Given the description of an element on the screen output the (x, y) to click on. 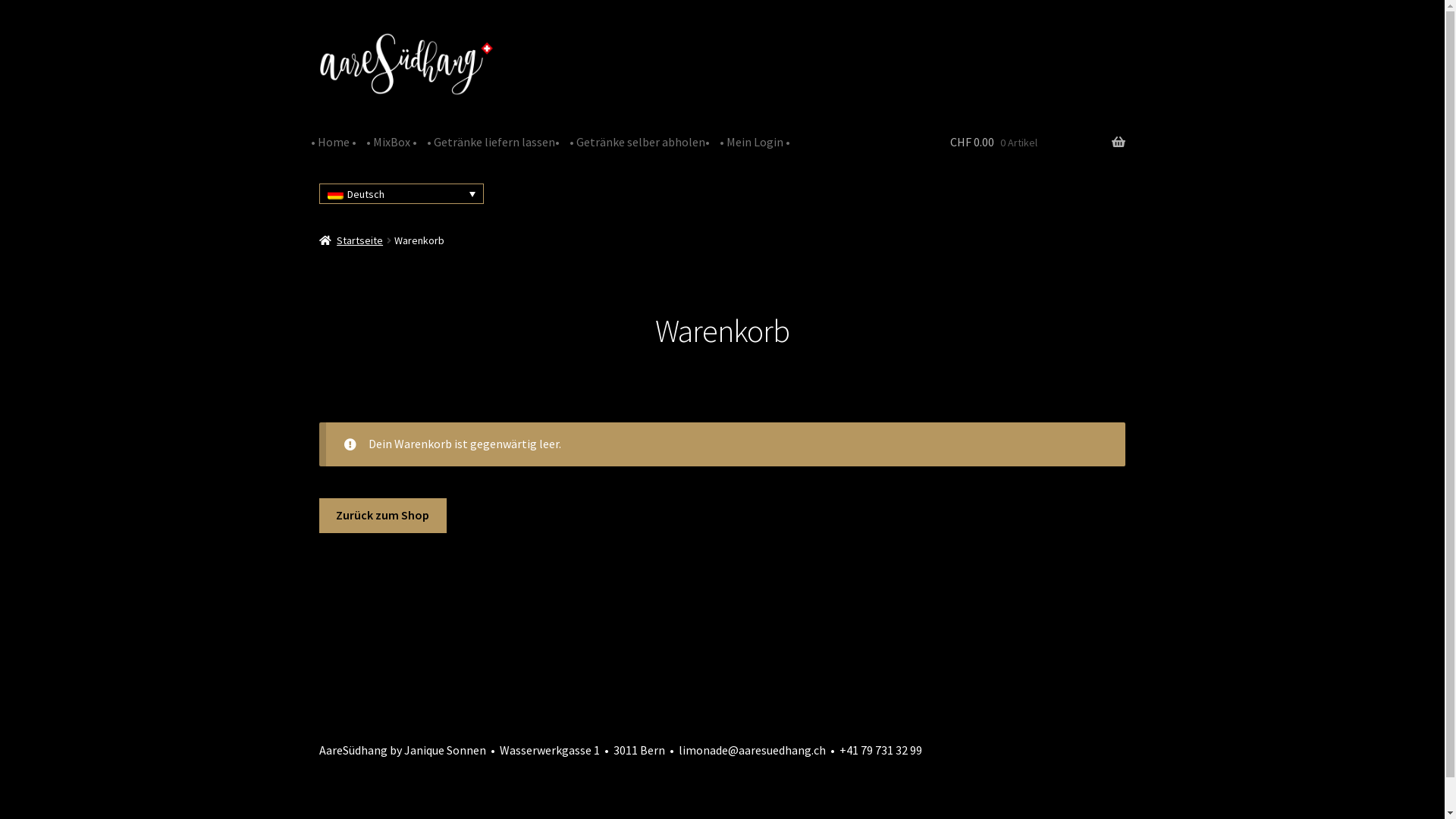
Startseite Element type: text (351, 240)
Deutsch Element type: text (401, 193)
CHF 0.00 0 Artikel Element type: text (1037, 142)
Zur Navigation springen Element type: text (318, 31)
